Given the description of an element on the screen output the (x, y) to click on. 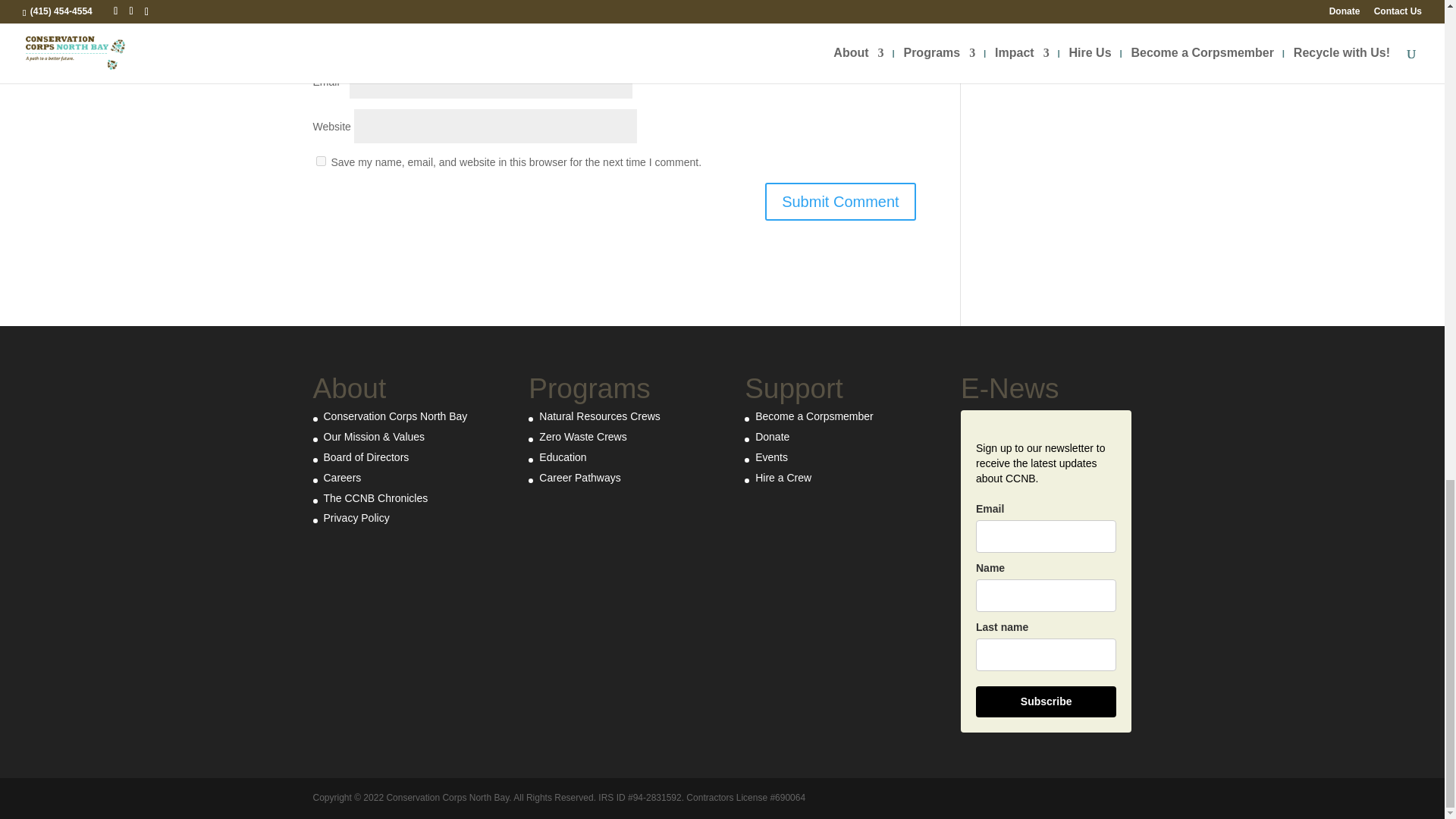
yes (319, 161)
Submit Comment (840, 201)
Submit Comment (840, 201)
